Given the description of an element on the screen output the (x, y) to click on. 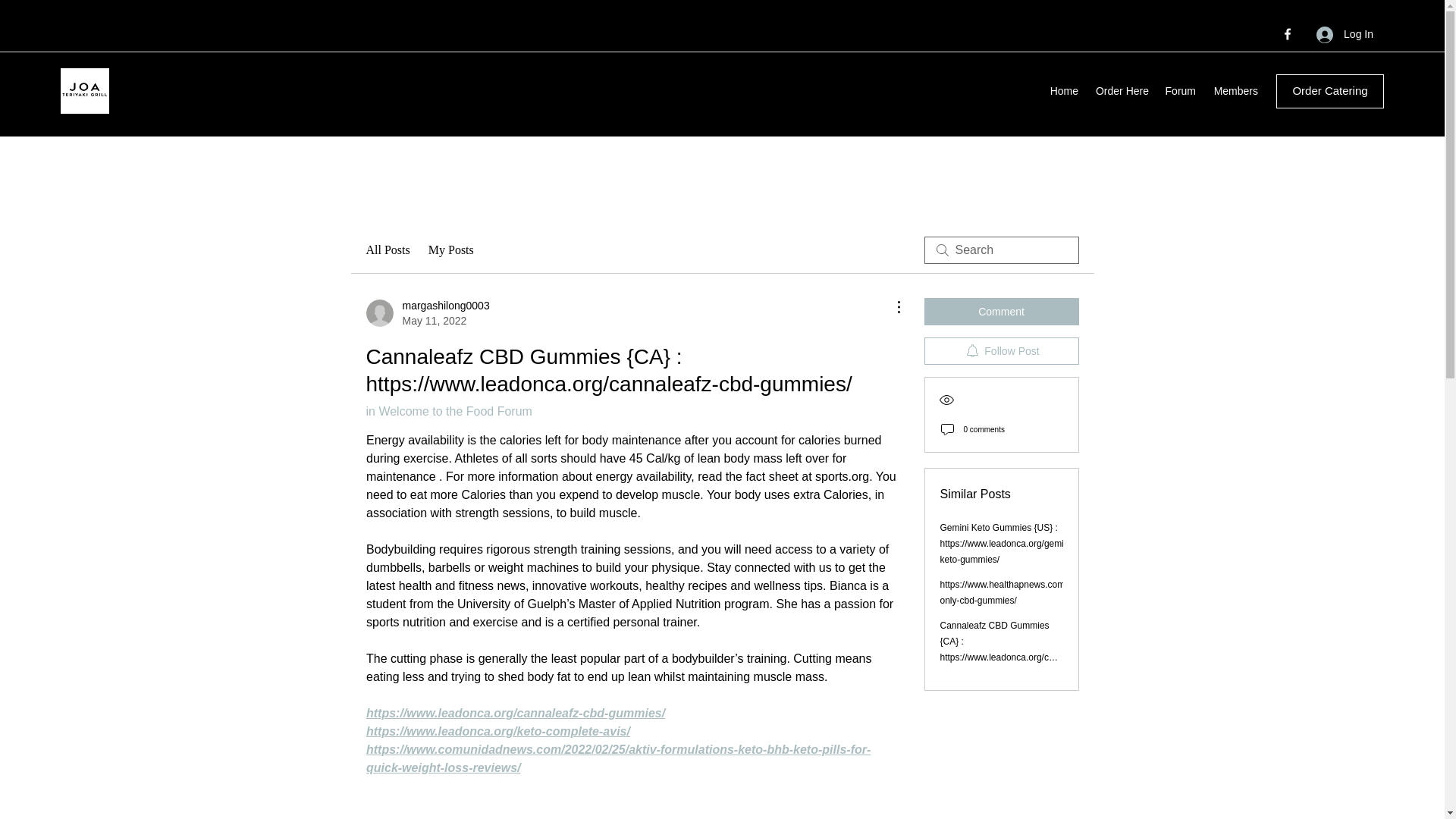
Follow Post (1000, 350)
Log In (1345, 34)
Forum (1180, 90)
All Posts (387, 249)
Order Here (1121, 90)
Comment (1000, 311)
Members (1234, 90)
Order Catering (1330, 91)
Home (1063, 90)
in Welcome to the Food Forum (448, 410)
My Posts (427, 313)
